Given the description of an element on the screen output the (x, y) to click on. 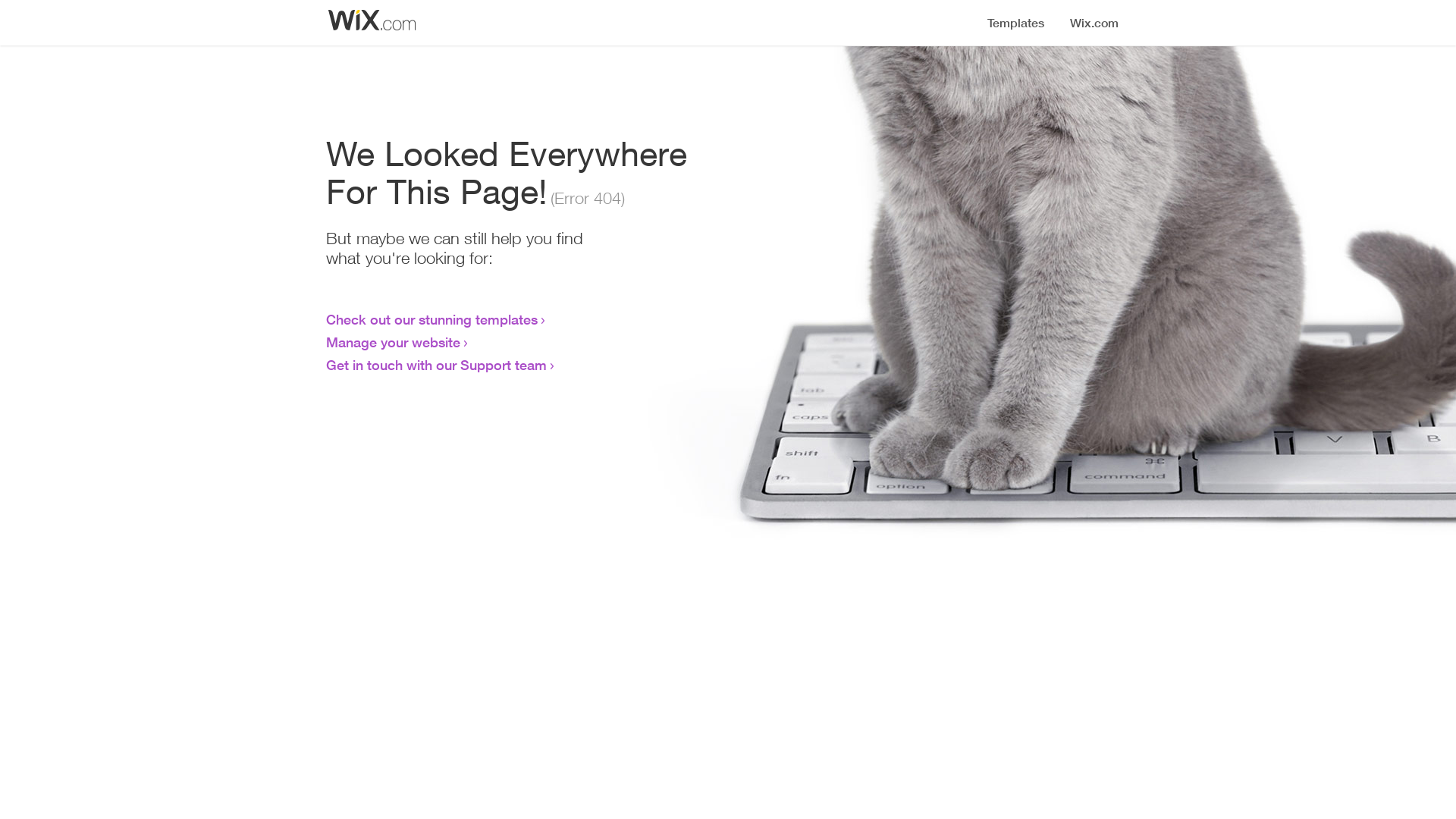
Get in touch with our Support team Element type: text (436, 364)
Check out our stunning templates Element type: text (431, 318)
Manage your website Element type: text (393, 341)
